Given the description of an element on the screen output the (x, y) to click on. 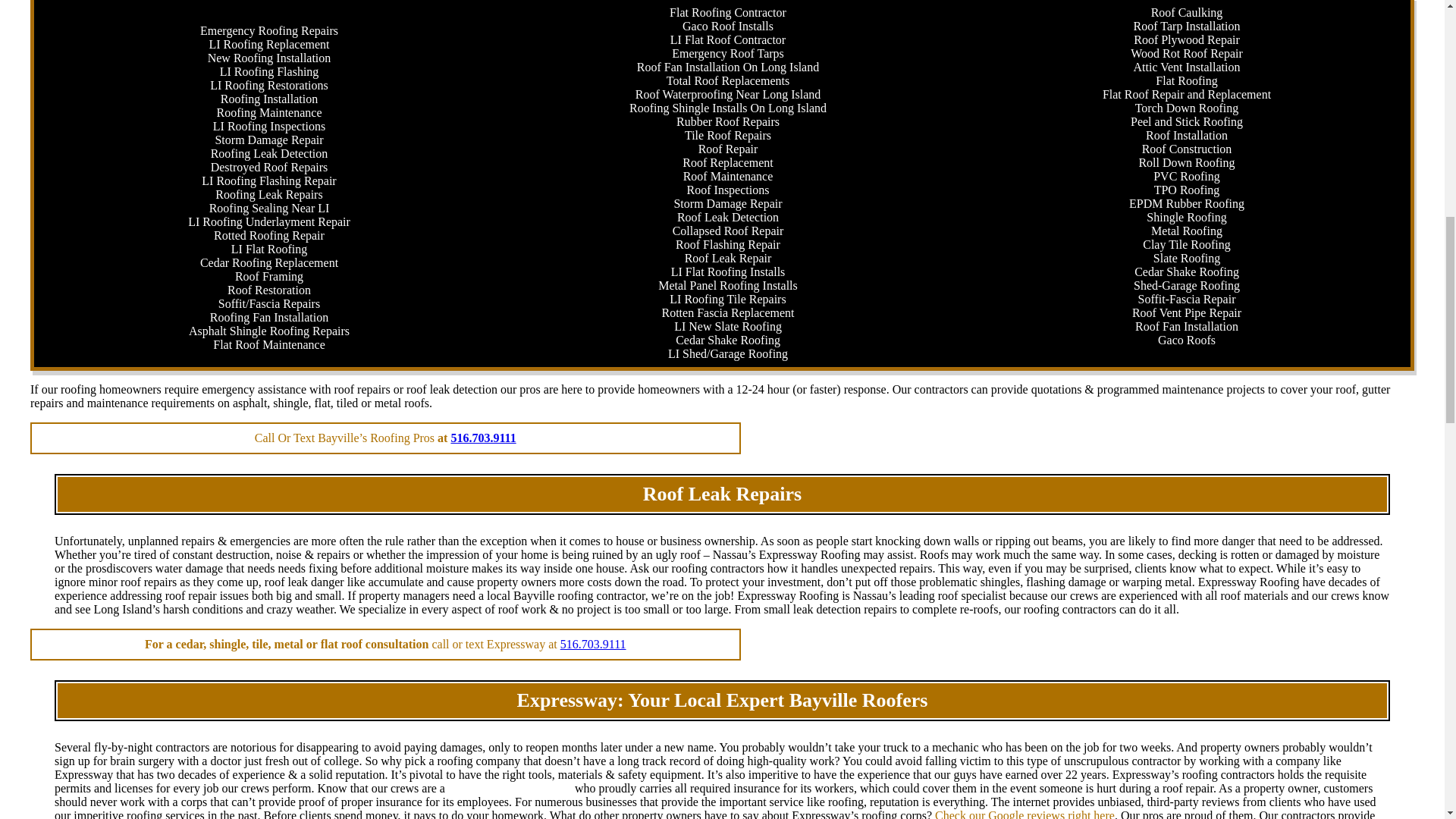
Check our Google reviews right here (1024, 814)
high quality roof installer (510, 788)
516.703.9111 (593, 644)
516.703.9111 (482, 437)
